Given the description of an element on the screen output the (x, y) to click on. 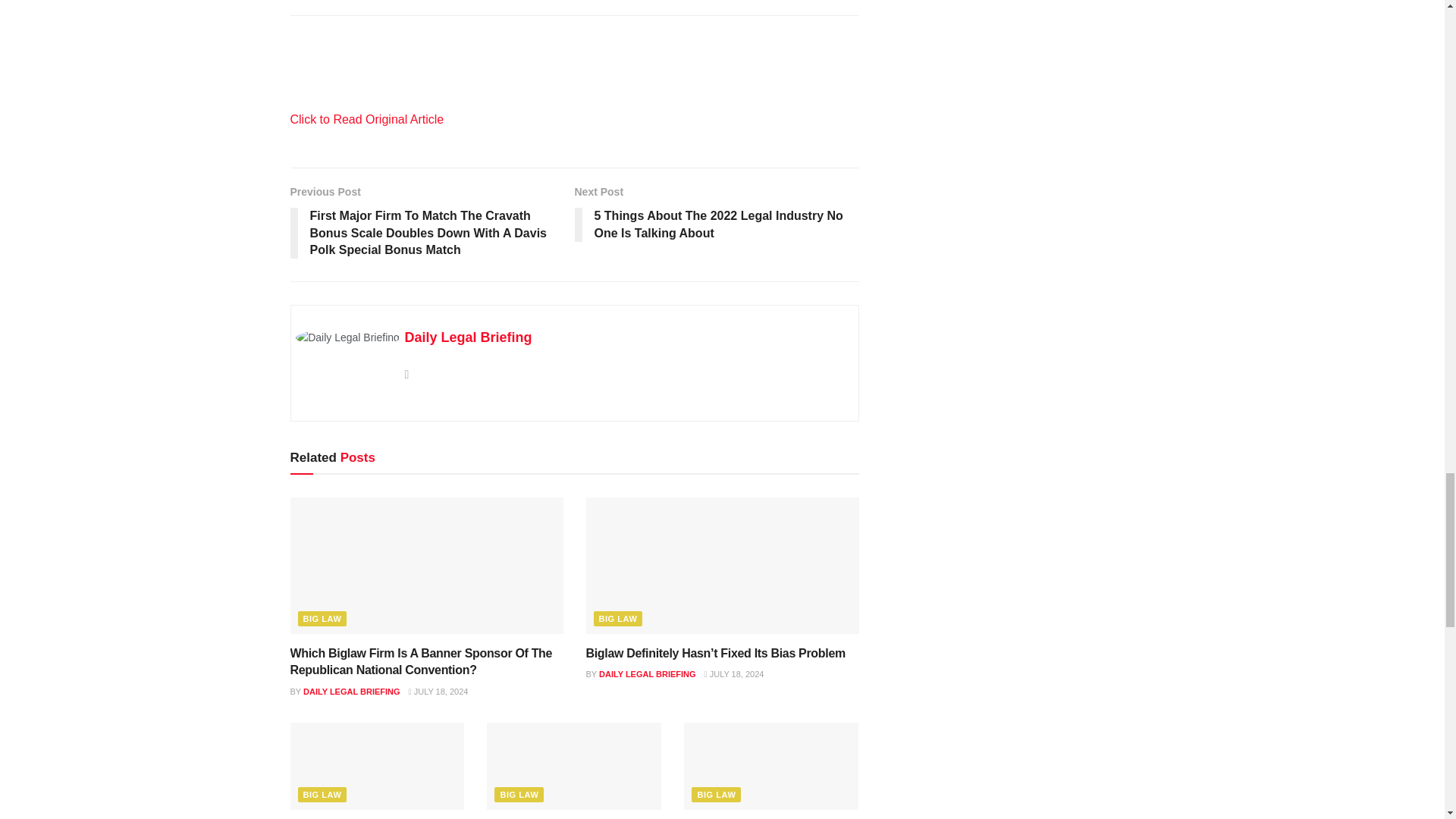
Click to Read Original Article (366, 119)
